Given the description of an element on the screen output the (x, y) to click on. 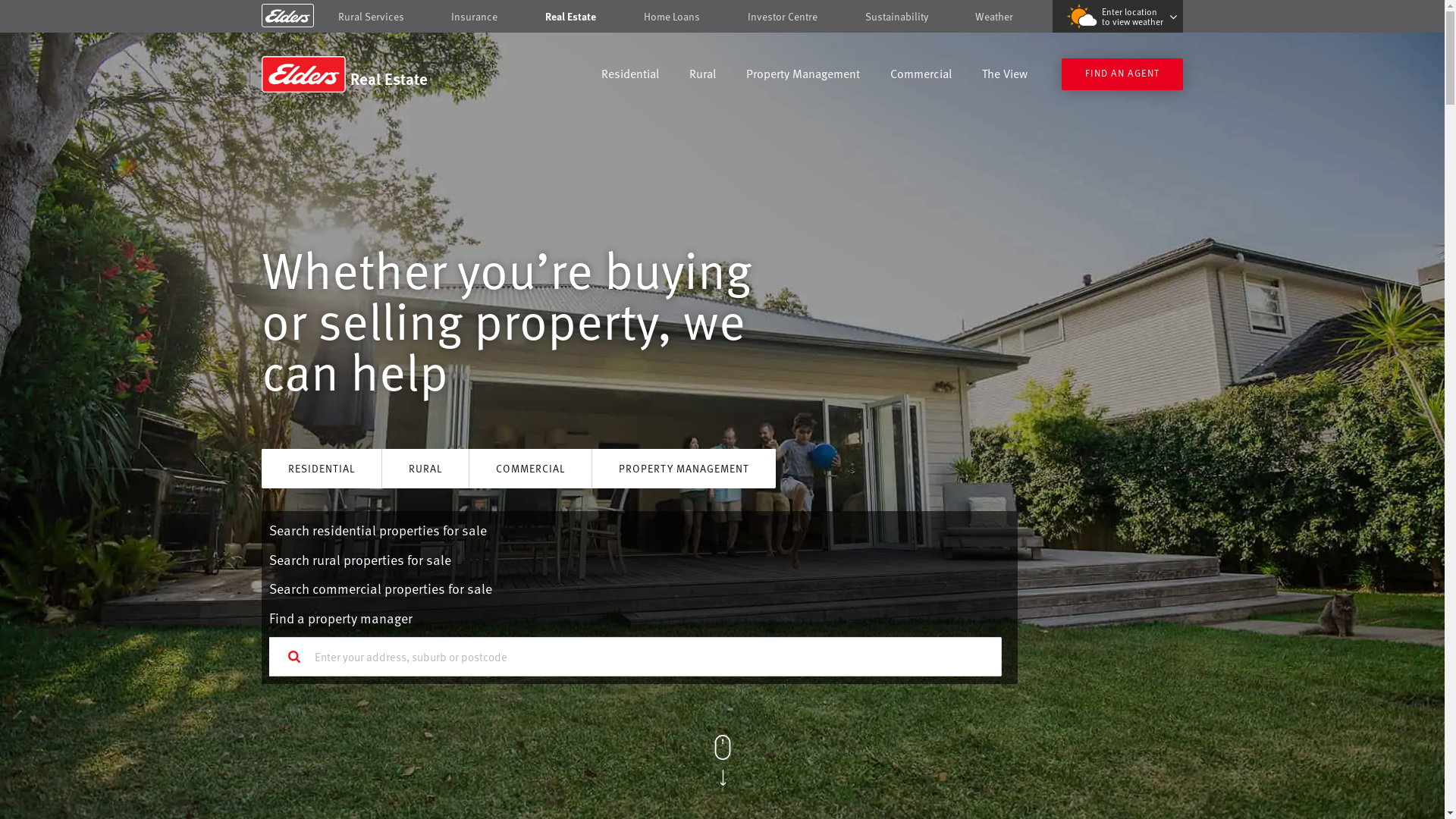
PROPERTY MANAGEMENT Element type: text (683, 468)
Skip to content Element type: text (722, 17)
Enter location to view weather Element type: text (1117, 16)
Real Estate Element type: text (369, 74)
Rural Services Element type: text (371, 16)
RURAL Element type: text (425, 468)
FIND AN AGENT Element type: text (1122, 74)
Home Loans Element type: text (671, 16)
The View Element type: text (1004, 75)
Insurance Element type: text (474, 16)
Commercial Element type: text (920, 75)
Rural Element type: text (702, 75)
COMMERCIAL Element type: text (530, 468)
Property Management Element type: text (802, 75)
Weather Element type: text (994, 16)
Sustainability Element type: text (896, 16)
Real Estate Element type: text (570, 16)
Investor Centre Element type: text (782, 16)
RESIDENTIAL Element type: text (321, 468)
Residential Element type: text (629, 75)
